Given the description of an element on the screen output the (x, y) to click on. 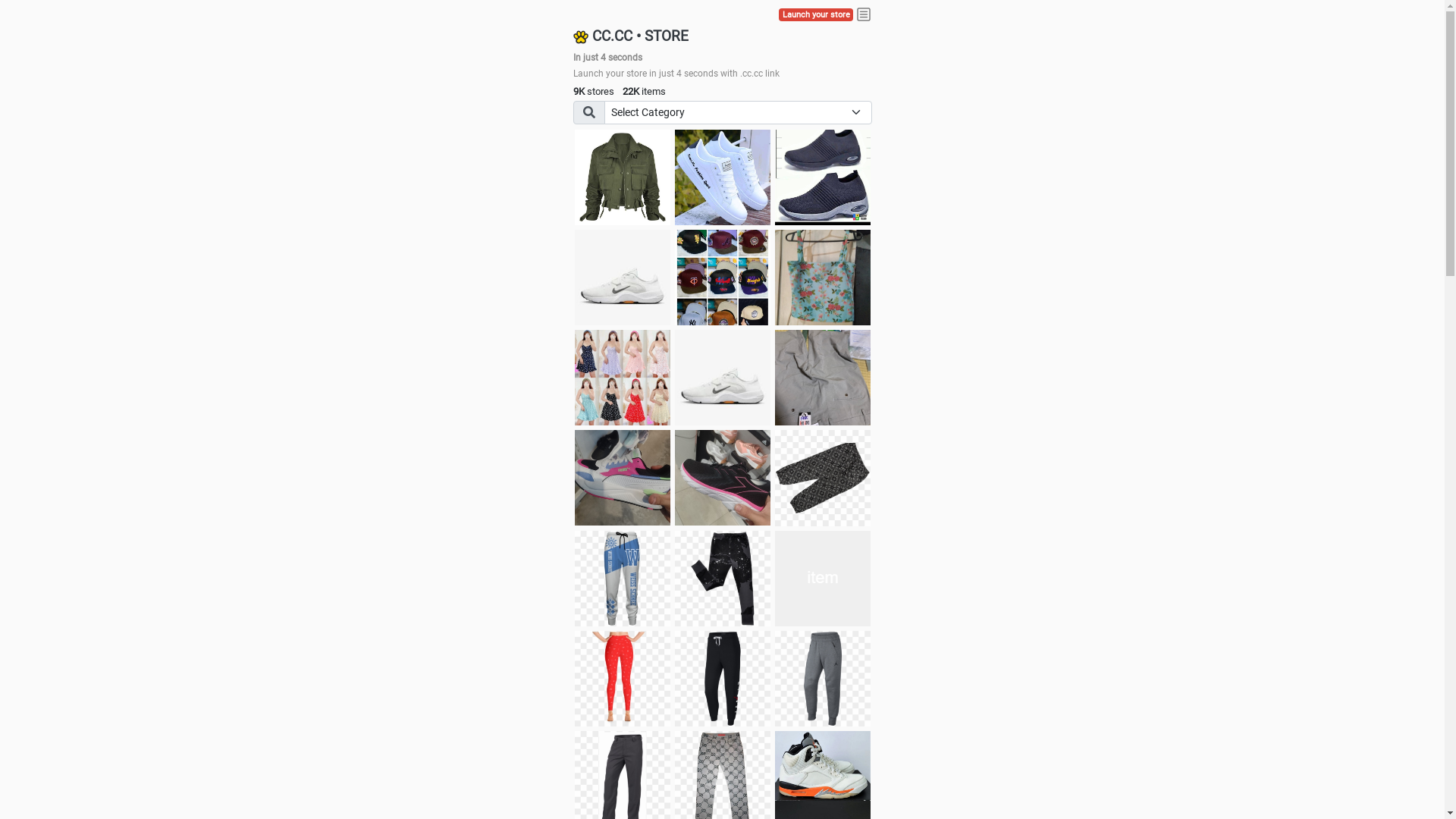
Shoes Element type: hover (722, 377)
Things we need Element type: hover (722, 277)
Pant Element type: hover (722, 578)
Zapatillas pumas Element type: hover (622, 477)
Pant Element type: hover (822, 578)
Ukay cloth Element type: hover (822, 277)
Launch your store Element type: text (815, 14)
Shoes for boys Element type: hover (622, 277)
Pant Element type: hover (722, 678)
Zapatillas Element type: hover (722, 477)
Pant Element type: hover (622, 578)
Pant Element type: hover (822, 678)
white shoes Element type: hover (722, 177)
shoes for boys Element type: hover (822, 177)
Short pant Element type: hover (822, 477)
Pant Element type: hover (622, 678)
Dress/square nect top Element type: hover (622, 377)
jacket Element type: hover (622, 177)
